Given the description of an element on the screen output the (x, y) to click on. 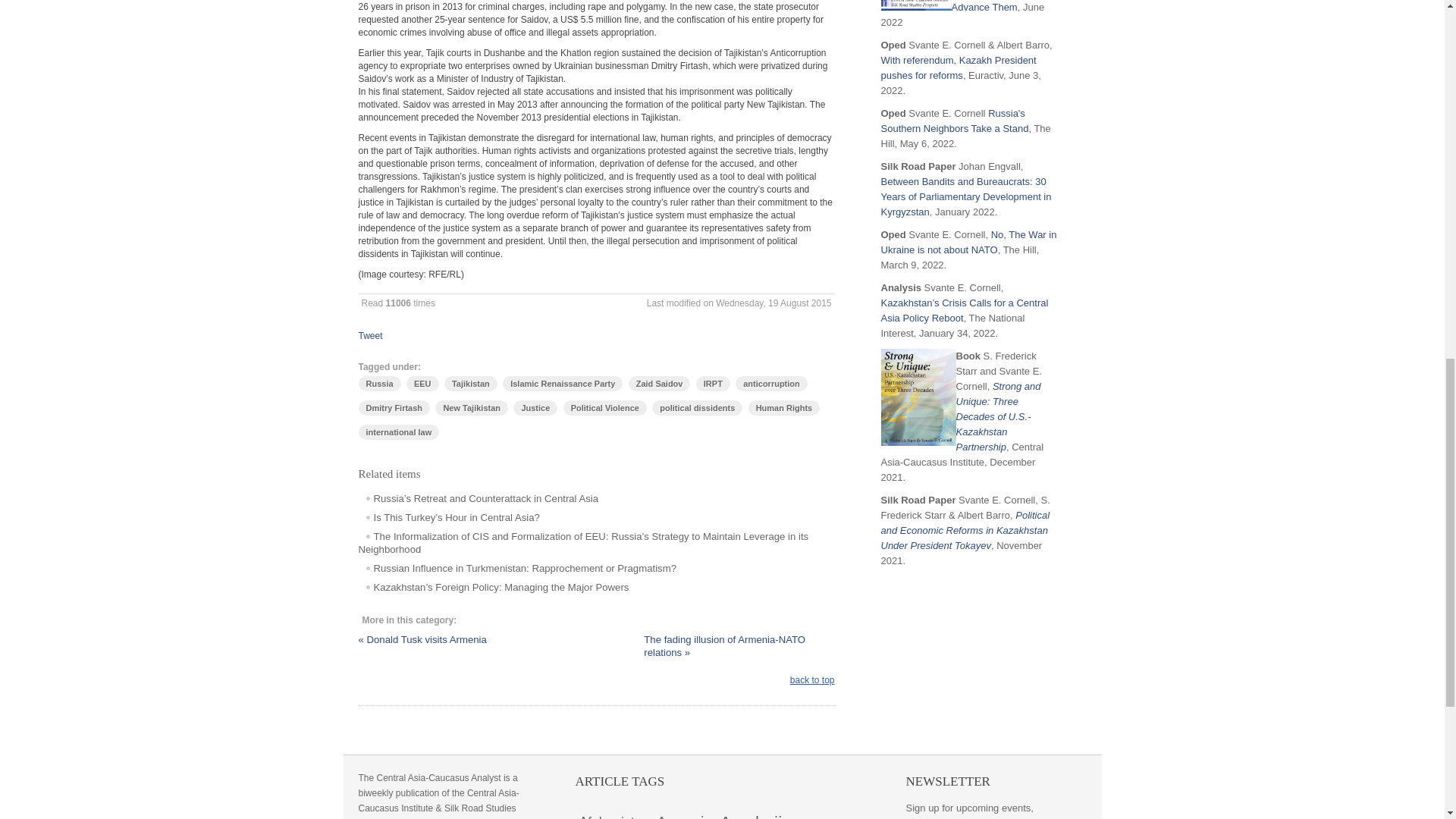
Tajikistan (470, 383)
New Tajikistan (471, 407)
Human Rights (784, 407)
Political Violence (604, 407)
114 items tagged with Afghanistan (613, 812)
Zaid Saidov (659, 383)
anticorruption (771, 383)
Dmitry Firtash (393, 407)
IRPT (712, 383)
Islamic Renaissance Party (562, 383)
Russia (379, 383)
Justice (535, 407)
EEU (422, 383)
139 items tagged with Armenia (684, 812)
